Given the description of an element on the screen output the (x, y) to click on. 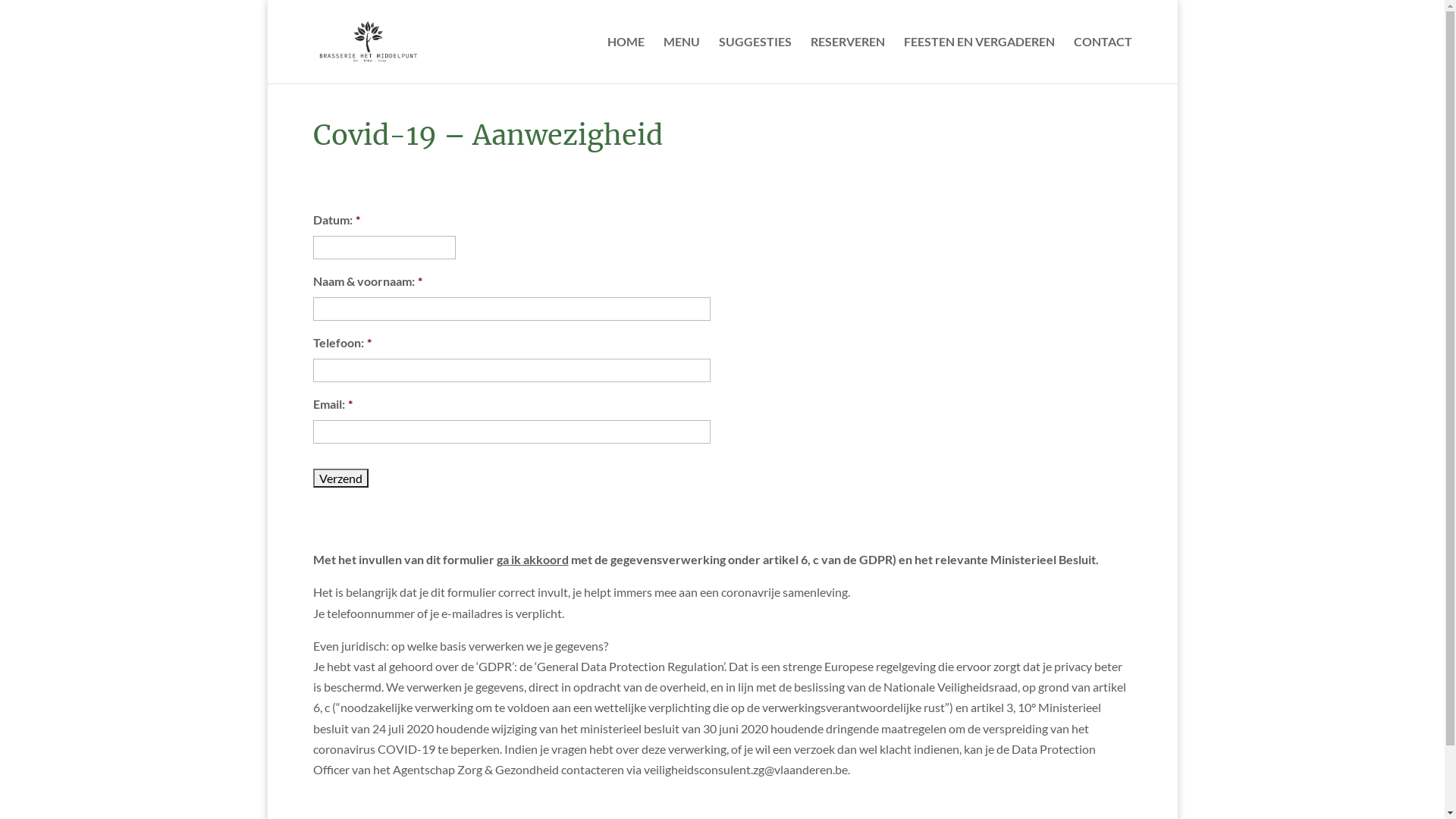
HOME Element type: text (624, 59)
MENU Element type: text (680, 59)
FEESTEN EN VERGADEREN Element type: text (978, 59)
Verzend Element type: text (339, 477)
CONTACT Element type: text (1102, 59)
SUGGESTIES Element type: text (754, 59)
RESERVEREN Element type: text (846, 59)
